Given the description of an element on the screen output the (x, y) to click on. 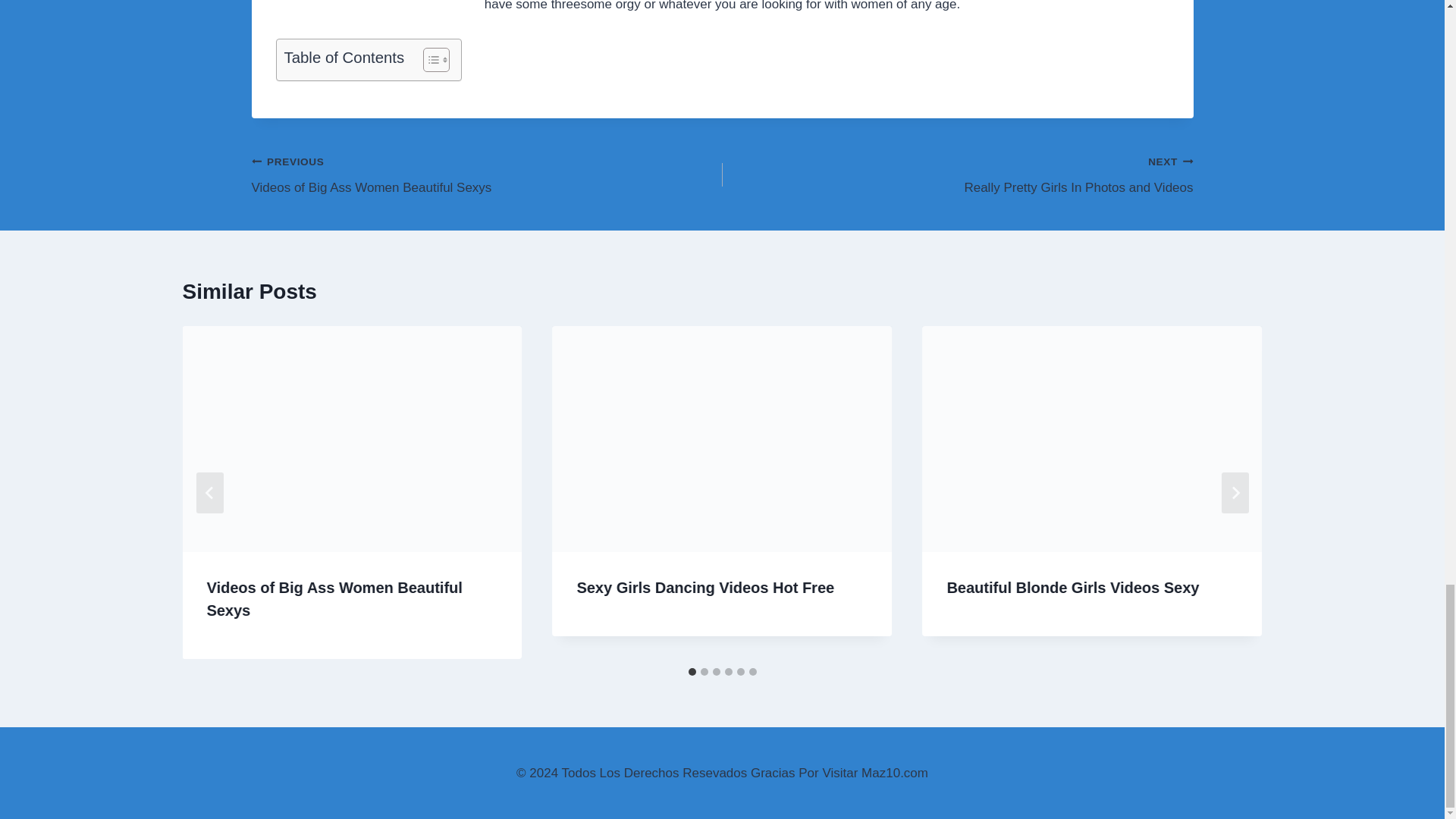
Videos of Big Ass Women Beautiful Sexys 5 (957, 174)
